Given the description of an element on the screen output the (x, y) to click on. 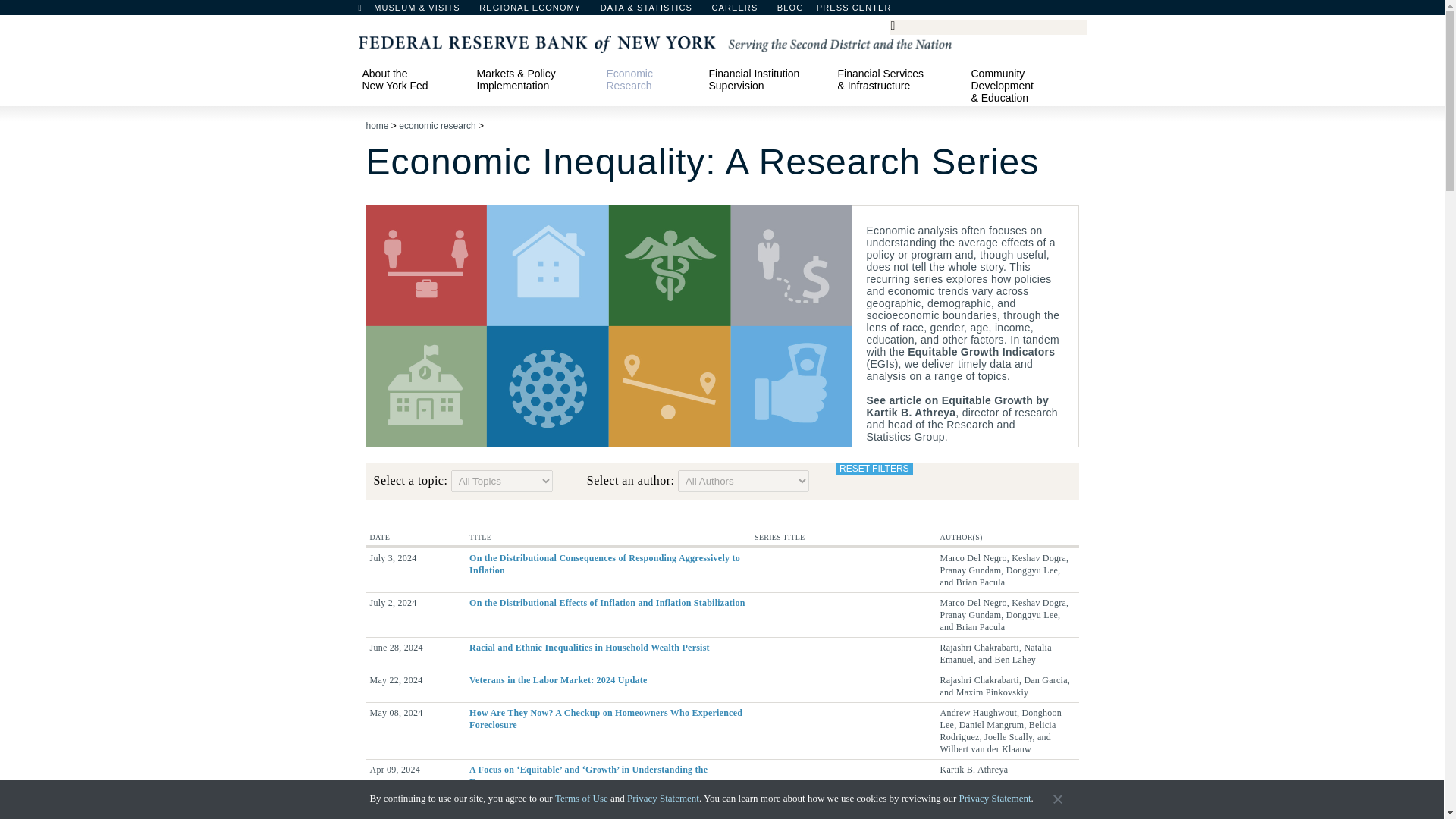
Home (367, 11)
Search Form (987, 27)
Liberty Street Economics Blog (830, 11)
CAREERS (742, 11)
About the New York Fed (411, 79)
Search Box (985, 26)
BLOG (830, 11)
About the New York Fed (411, 79)
Press Center (861, 11)
PRESS CENTER (861, 11)
Federal Reserve Bank of New York (654, 42)
REGIONAL ECONOMY (537, 11)
Careers (742, 11)
Regional Economy (537, 11)
